Given the description of an element on the screen output the (x, y) to click on. 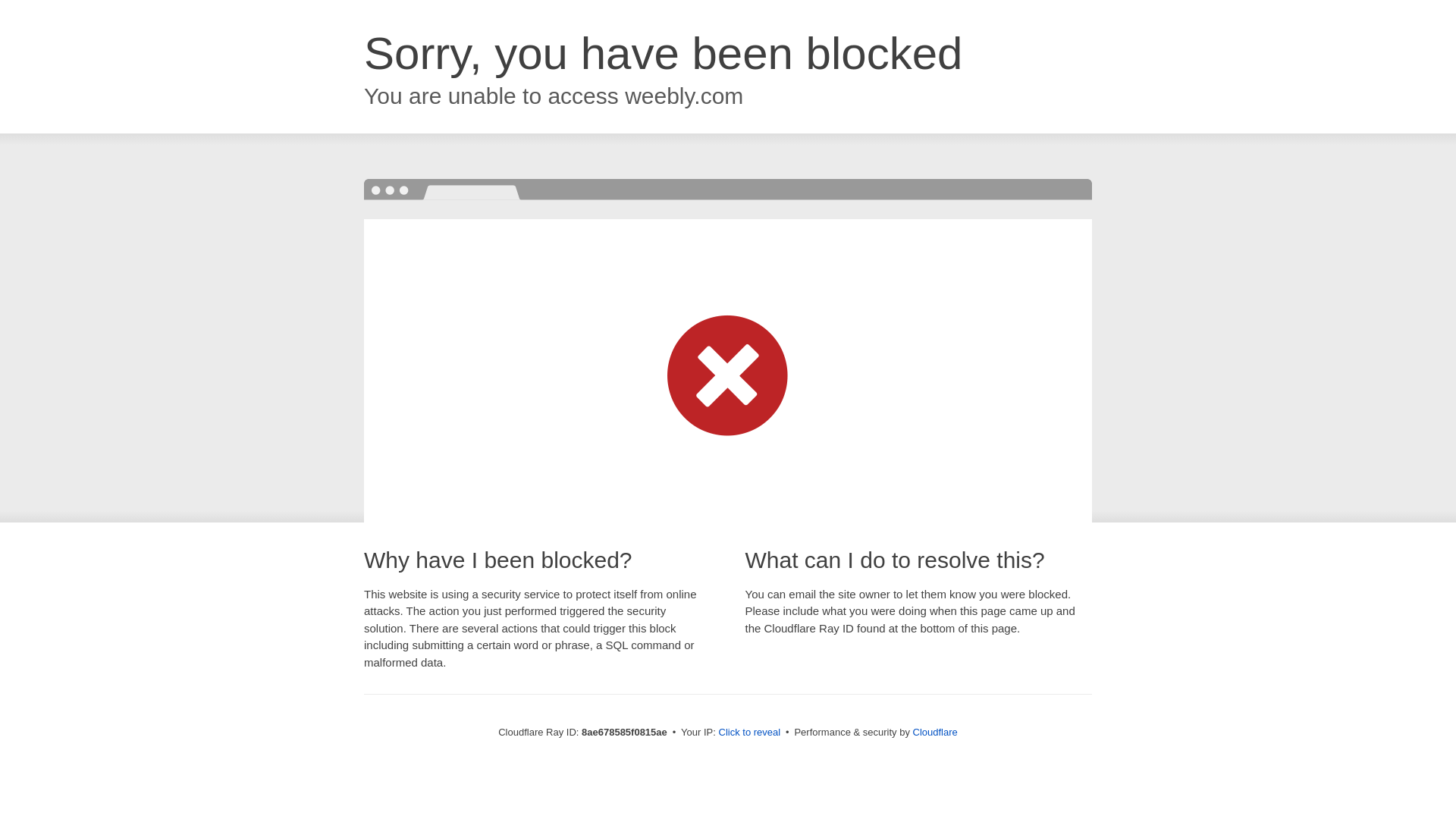
Click to reveal (749, 732)
Cloudflare (935, 731)
